Given the description of an element on the screen output the (x, y) to click on. 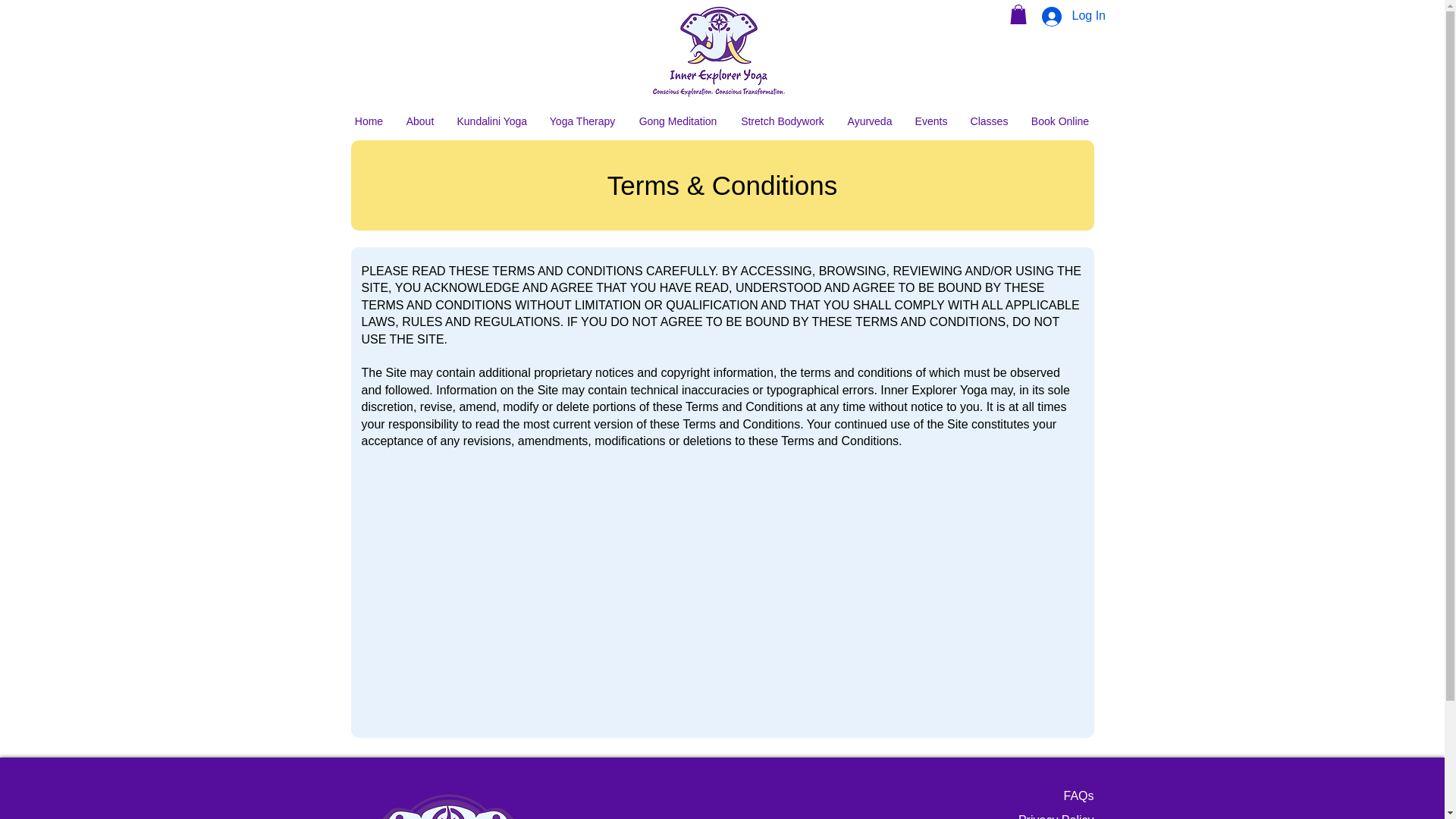
Book Online (1059, 121)
Kundalini Yoga (491, 121)
FAQs (1077, 795)
Log In (1062, 15)
Yoga Therapy (582, 121)
Stretch Bodywork (782, 121)
Events (931, 121)
Home (368, 121)
Privacy Policy (1055, 816)
Gong Meditation (677, 121)
Ayurveda (868, 121)
About (419, 121)
Classes (988, 121)
